Given the description of an element on the screen output the (x, y) to click on. 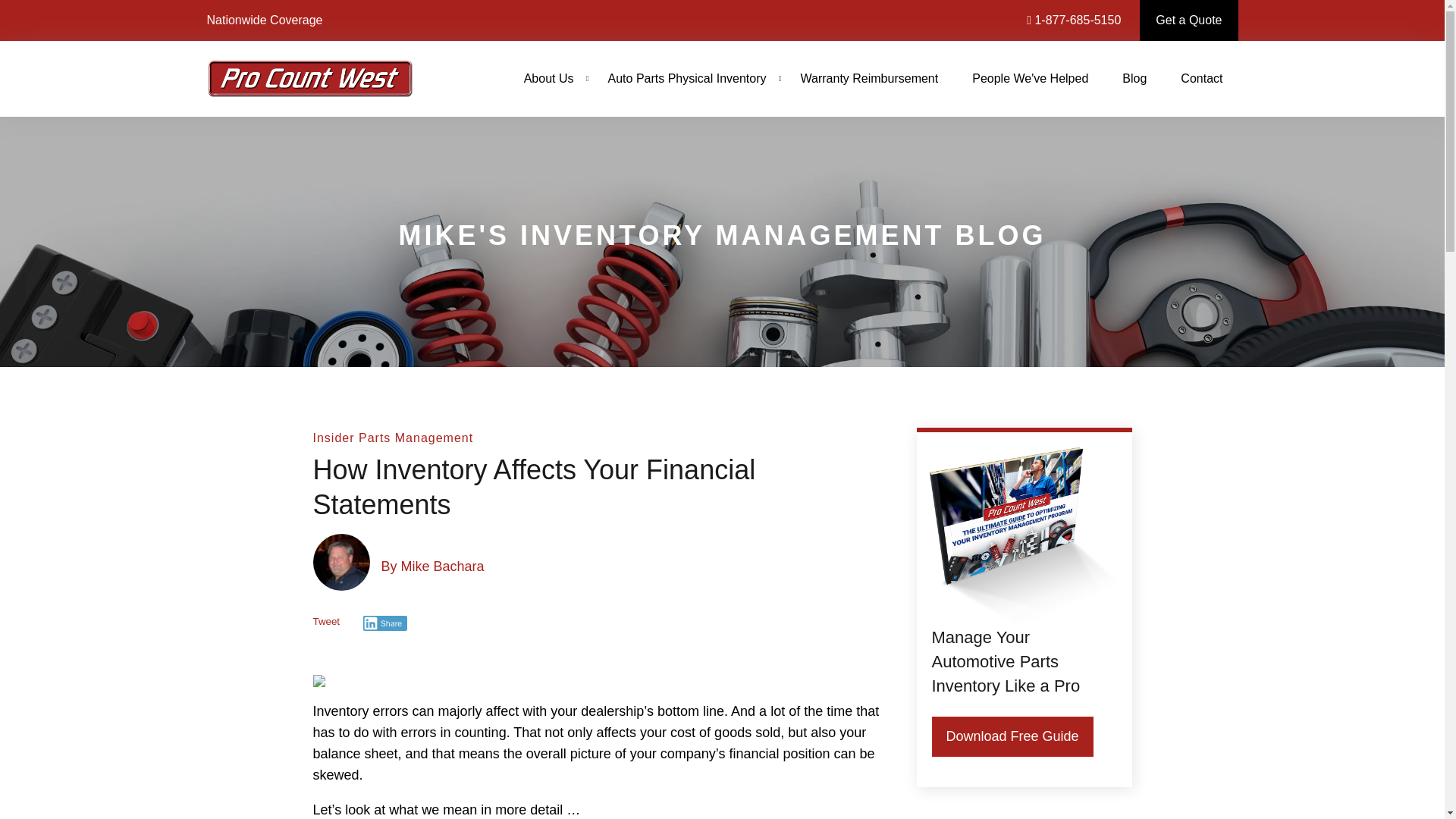
Pro Count West (309, 78)
Warranty Reimbursement (869, 78)
Auto Parts Physical Inventory (686, 78)
Share (384, 622)
By Mike Bachara (431, 557)
1-877-685-5150 (1073, 19)
Contact (1201, 78)
Blog (1133, 78)
Tweet (335, 626)
People We've Helped (1029, 78)
Get a Quote (1188, 20)
Parts Management (415, 437)
Download Free Guide (1012, 736)
Download Free Guide (1012, 736)
About Us (548, 78)
